Given the description of an element on the screen output the (x, y) to click on. 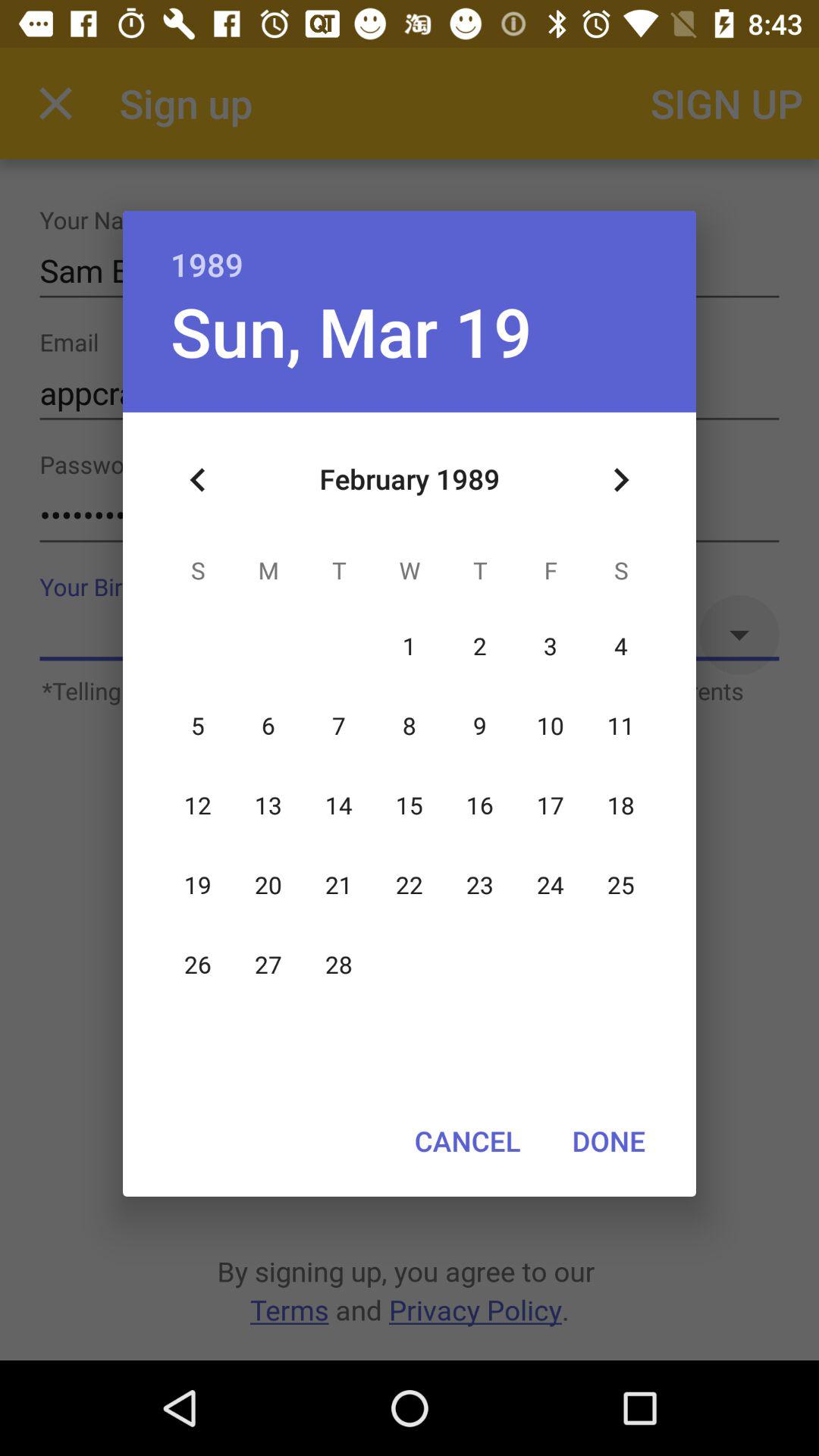
flip to sun, mar 19 item (351, 331)
